Given the description of an element on the screen output the (x, y) to click on. 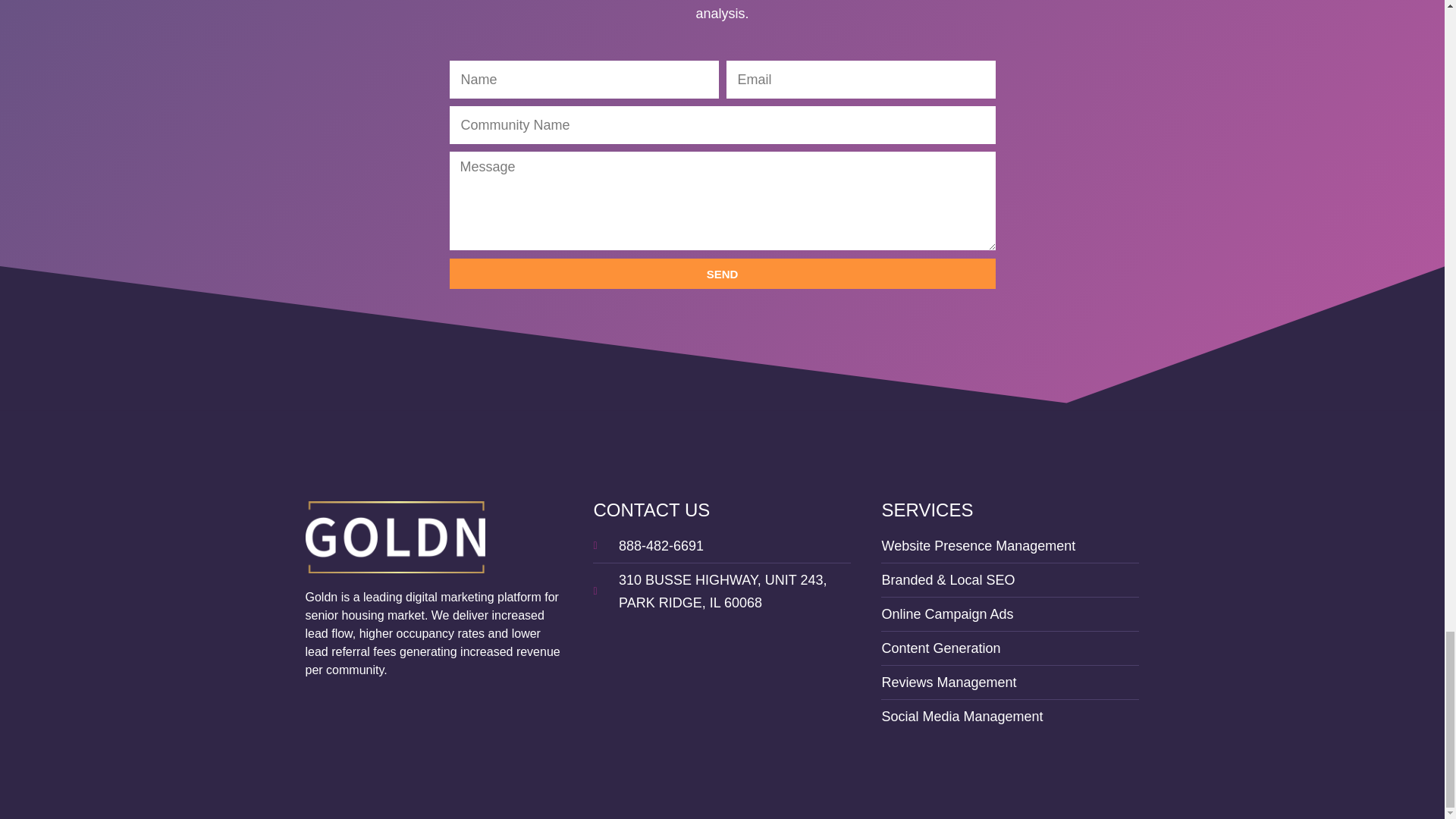
SEND (721, 273)
